Given the description of an element on the screen output the (x, y) to click on. 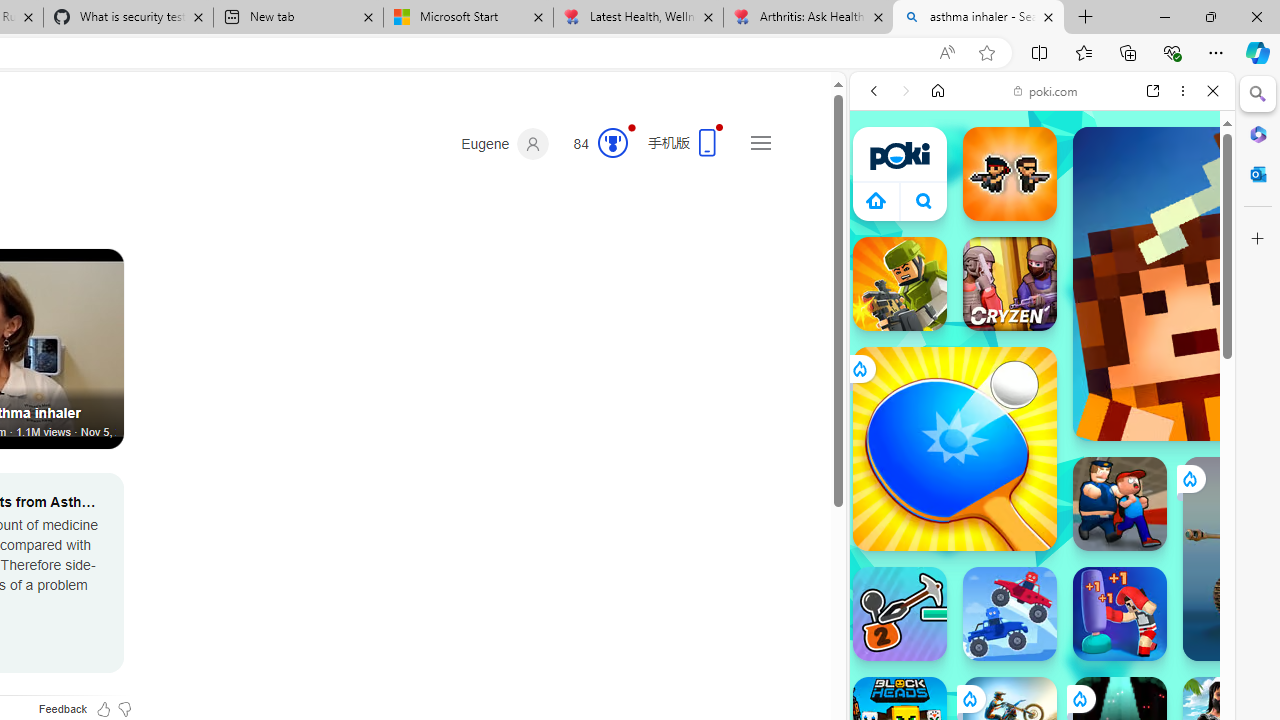
Sports Games (1042, 665)
Stickman Climb 2 (899, 613)
Car Games (1042, 469)
Animation (632, 127)
Punch Legend Simulator (1119, 613)
Poki - Free Online Games - Play Now! (1034, 309)
Ping Pong Go! (954, 448)
